Given the description of an element on the screen output the (x, y) to click on. 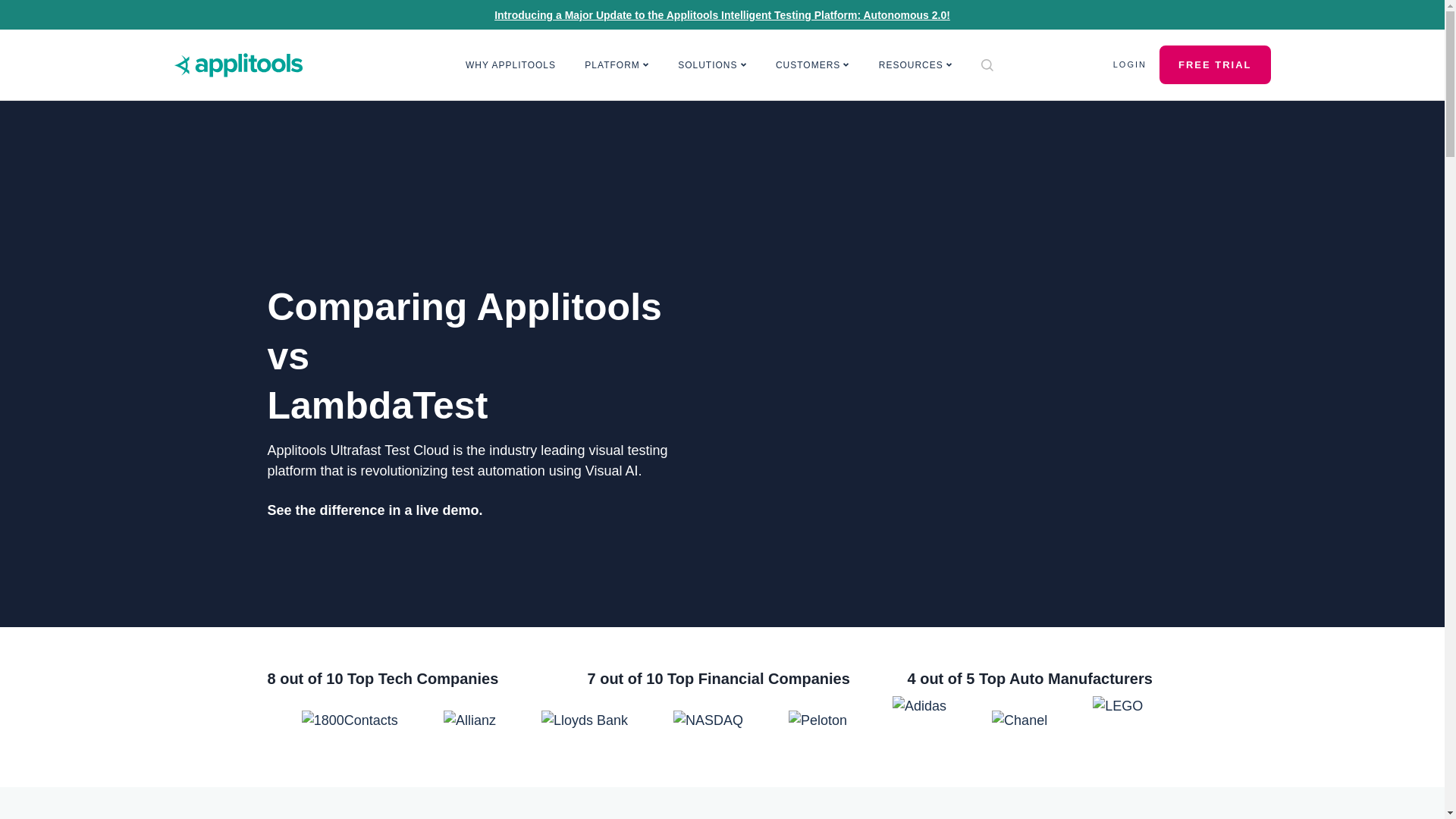
PLATFORM (616, 65)
WHY APPLITOOLS (510, 65)
Applitools (238, 64)
SOLUTIONS (712, 65)
